Given the description of an element on the screen output the (x, y) to click on. 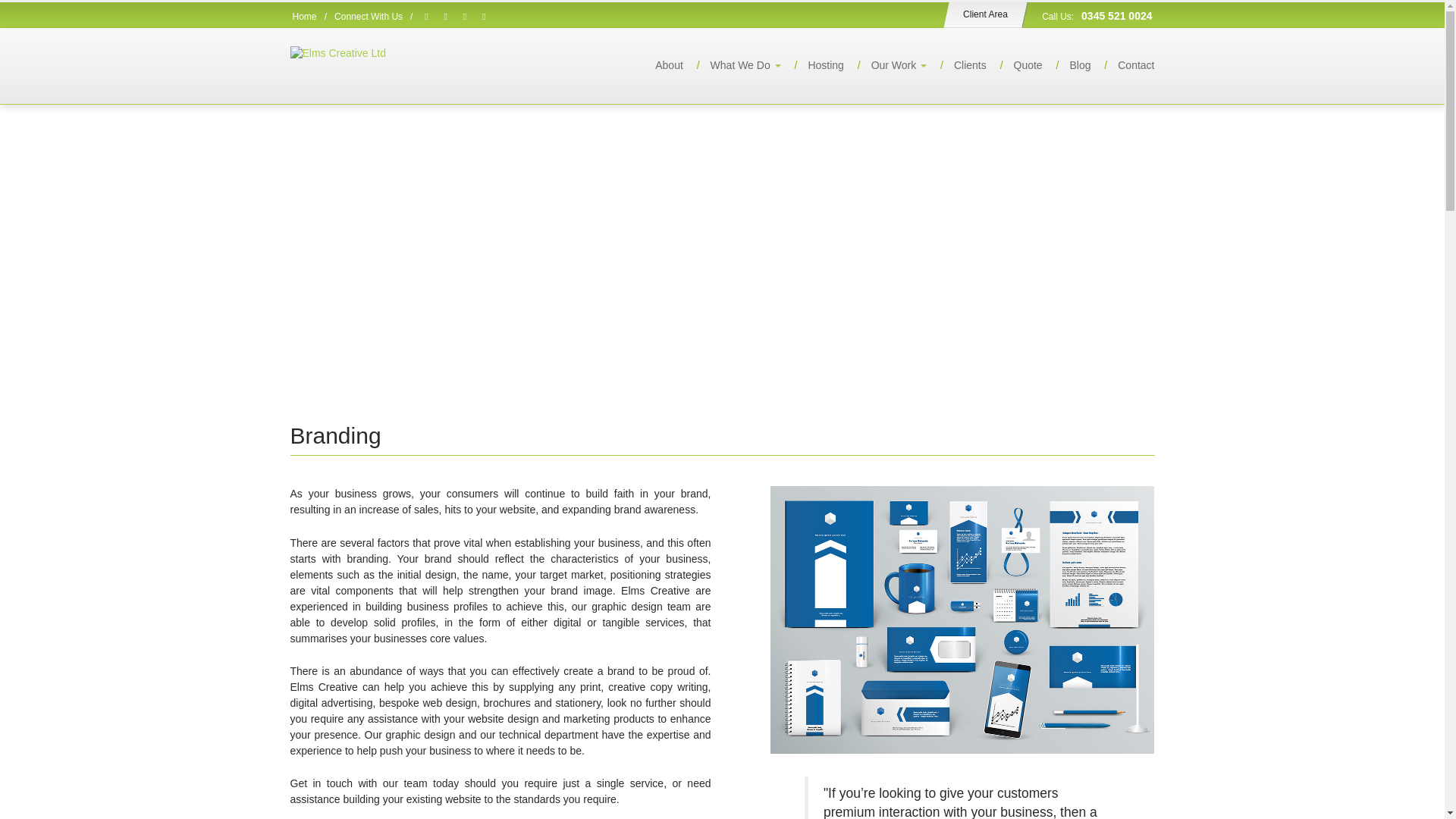
Home (305, 16)
Client Area (982, 14)
Quote (1016, 65)
Clients (958, 65)
What We Do (732, 65)
Contact (1123, 65)
Our Work (886, 65)
Blog (1067, 65)
About (657, 65)
Hosting (813, 65)
